Given the description of an element on the screen output the (x, y) to click on. 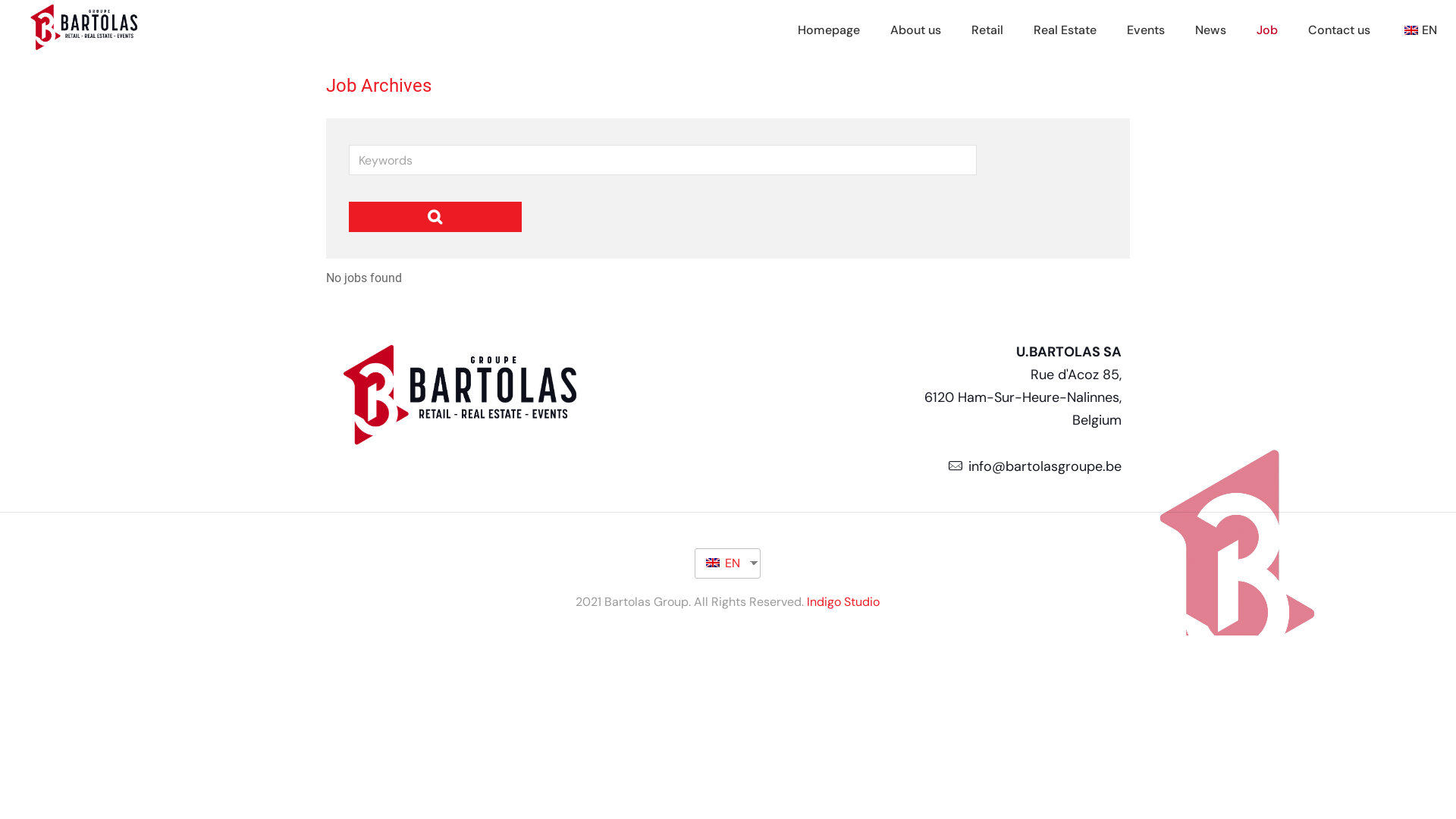
Retail Element type: text (987, 30)
Homepage Element type: text (828, 30)
EN Element type: text (1418, 30)
EN Element type: text (721, 563)
Indigo Studio Element type: text (842, 601)
Contact us Element type: text (1338, 30)
Job Element type: text (1266, 30)
English Element type: hover (712, 562)
Real Estate Element type: text (1064, 30)
About us Element type: text (915, 30)
News Element type: text (1210, 30)
Groupe Bartolas Element type: hover (83, 47)
Events Element type: text (1145, 30)
English Element type: hover (1411, 29)
